Given the description of an element on the screen output the (x, y) to click on. 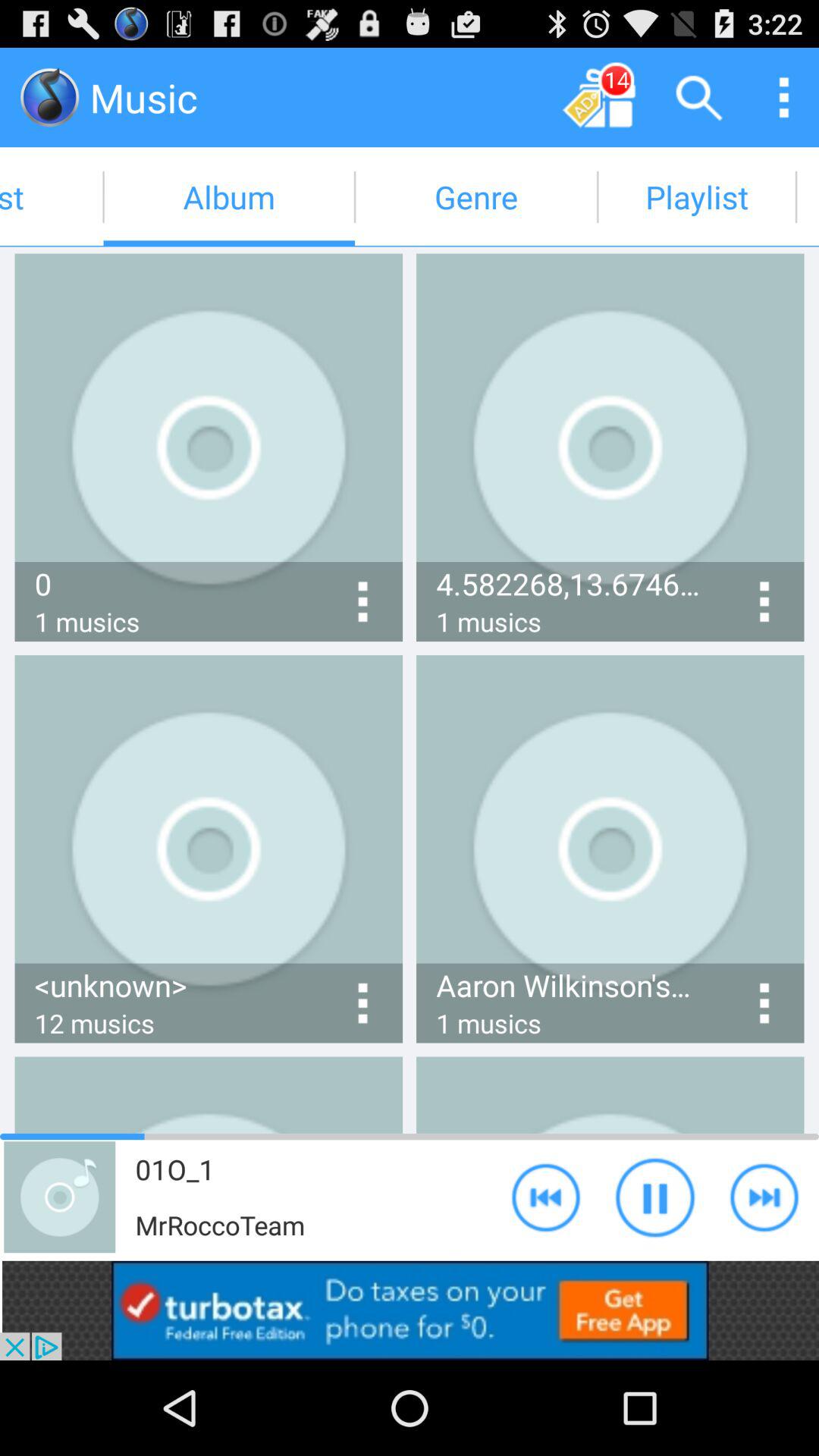
search for music (699, 97)
